Given the description of an element on the screen output the (x, y) to click on. 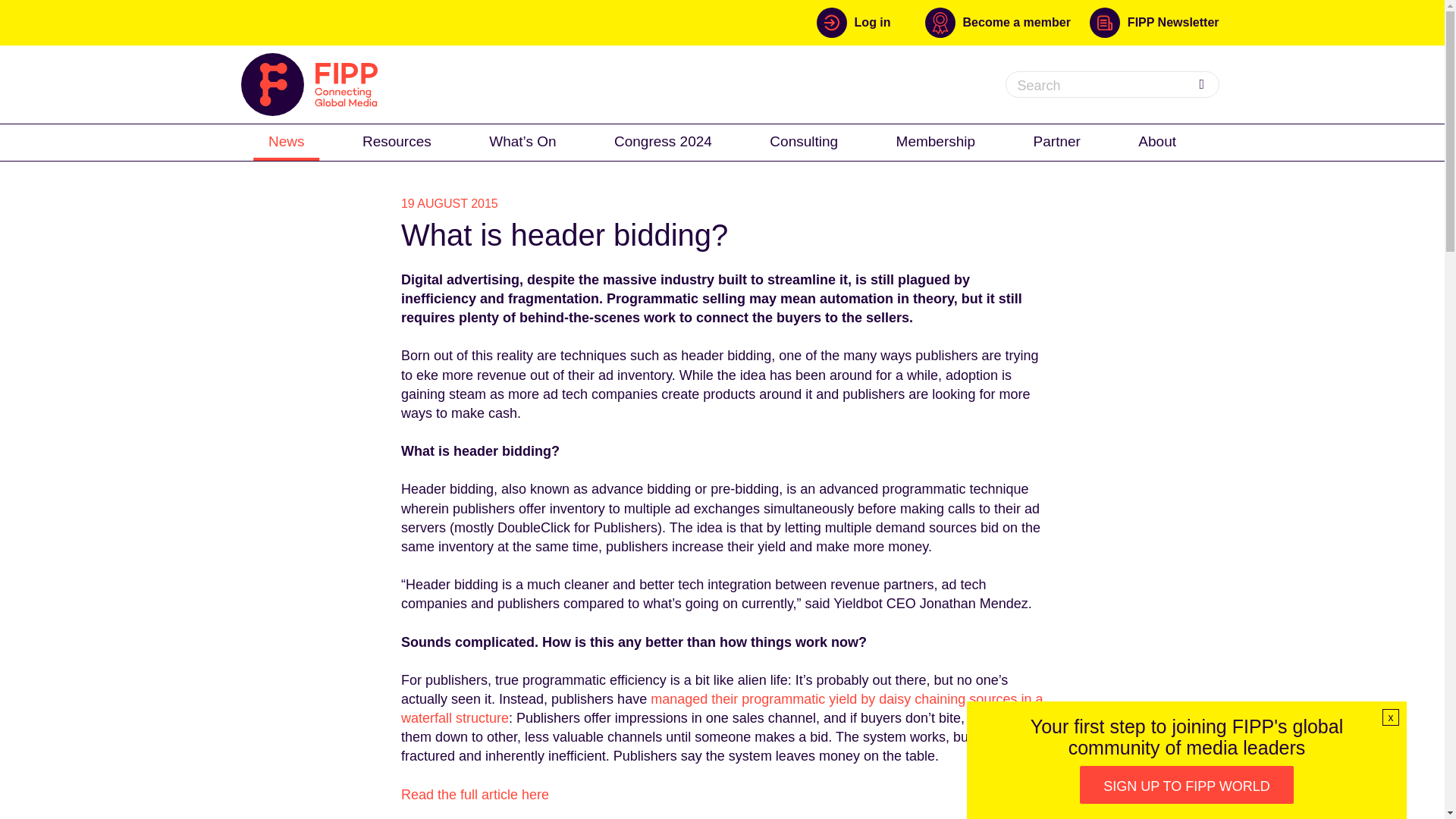
Become a member (1006, 22)
Resources (396, 141)
Partner (1056, 141)
Consulting (803, 141)
FIPP Newsletter (1154, 22)
Read the full article here (474, 794)
Membership (935, 141)
Congress 2024 (662, 141)
News (286, 141)
About (1156, 141)
